Given the description of an element on the screen output the (x, y) to click on. 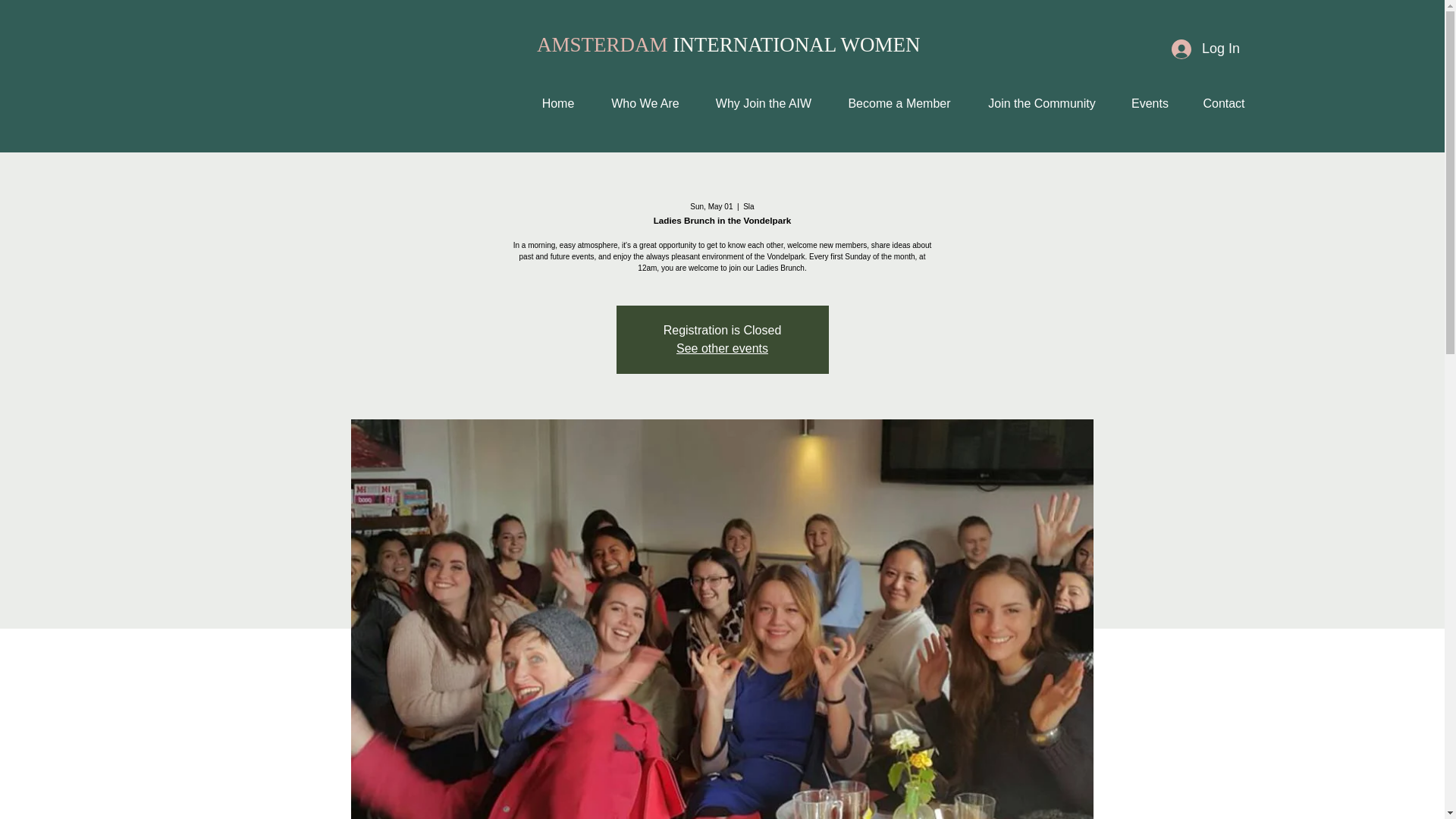
See other events (722, 348)
Why Join the AIW (763, 103)
Contact (1223, 103)
AMSTERDAM INTERNATIONAL WOMEN (728, 44)
Join the Community (1042, 103)
Home (557, 103)
Log In (1205, 49)
Who We Are (644, 103)
Events (1150, 103)
Become a Member (899, 103)
